Given the description of an element on the screen output the (x, y) to click on. 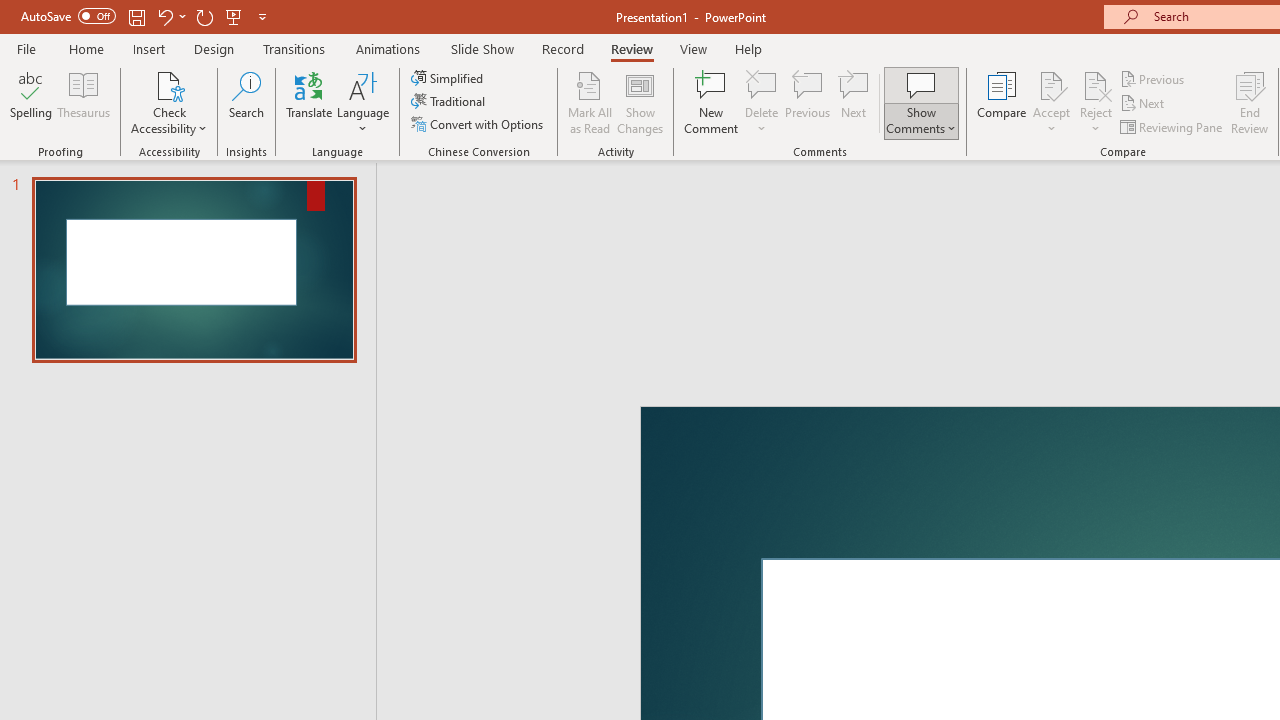
Language (363, 102)
Traditional (449, 101)
Check Accessibility (169, 102)
Reject Change (1096, 84)
Accept (1051, 102)
Mark All as Read (589, 102)
